Given the description of an element on the screen output the (x, y) to click on. 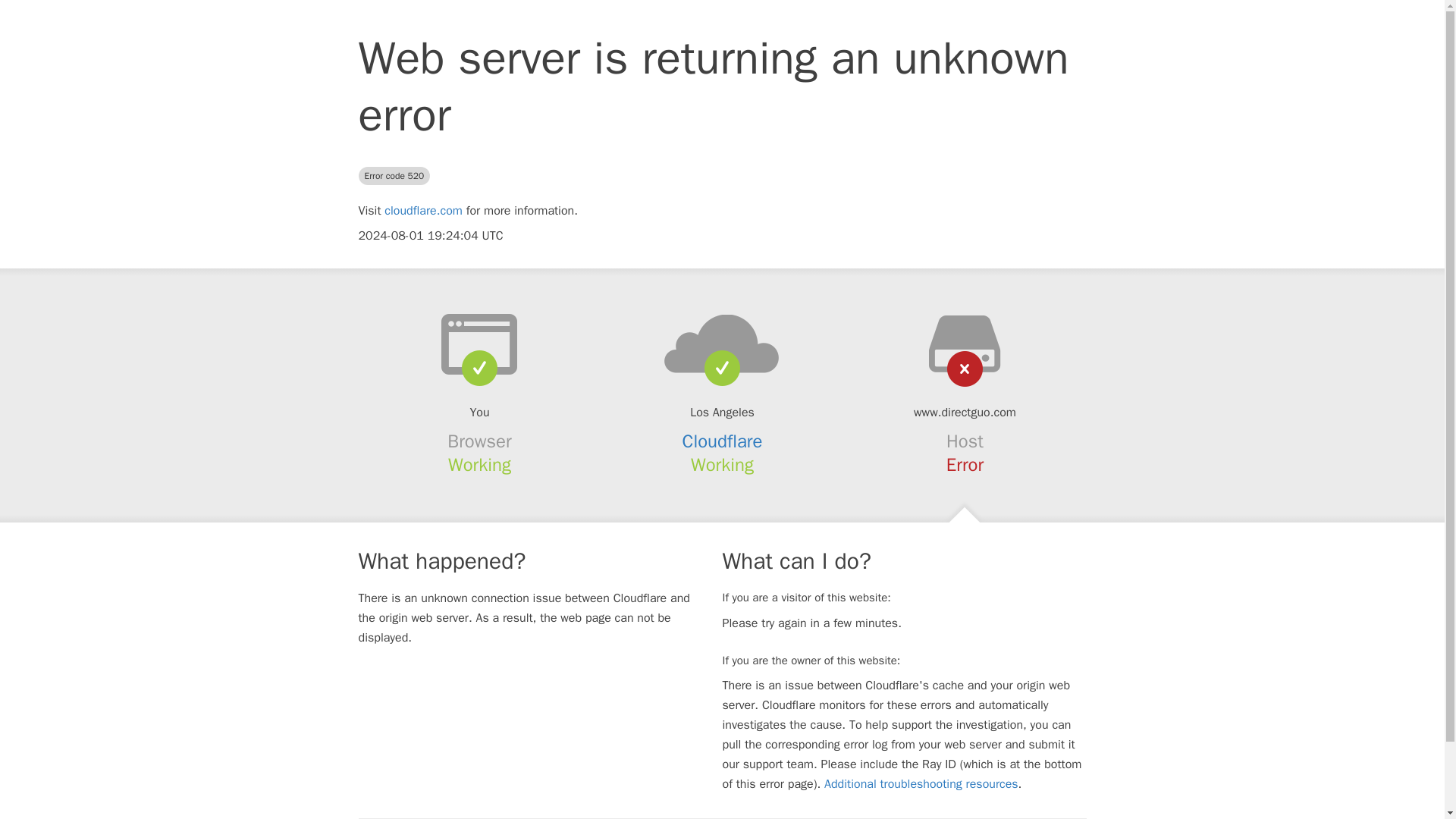
Cloudflare (722, 440)
Additional troubleshooting resources (920, 783)
cloudflare.com (423, 210)
